Given the description of an element on the screen output the (x, y) to click on. 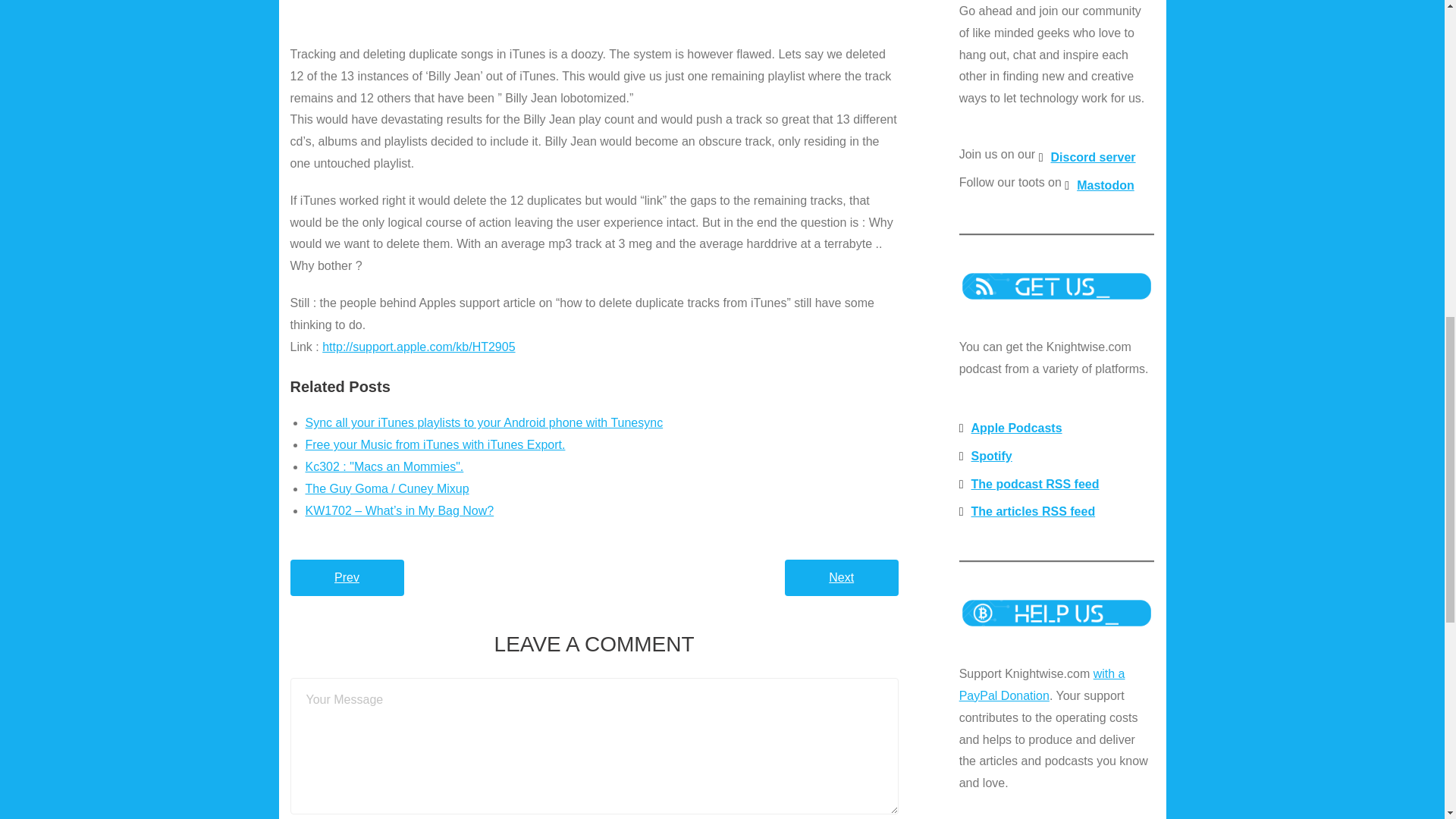
Free your Music from iTunes with iTunes Export. (434, 444)
The podcast RSS feed (1029, 484)
Free your Music from iTunes with iTunes Export. (434, 444)
a (593, 14)
with a PayPal Donation (1042, 684)
Mastodon (1099, 185)
Kc302 : "Macs an Mommies". (383, 466)
Next (841, 577)
The articles RSS feed (1026, 511)
Apple Podcasts (1010, 428)
Prev (346, 577)
Discord server (1087, 157)
Spotify (985, 456)
